Given the description of an element on the screen output the (x, y) to click on. 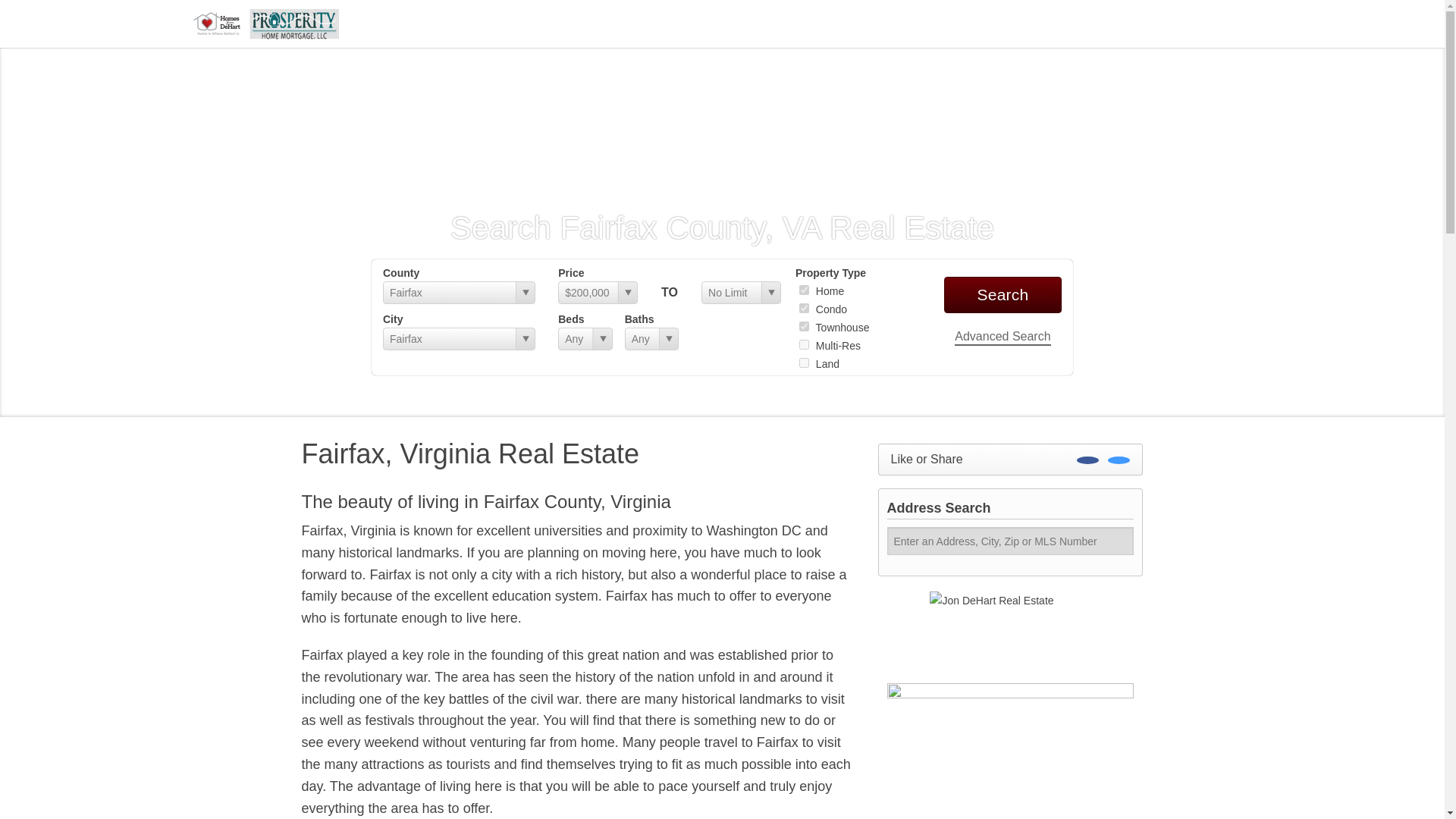
twn (804, 326)
Search (1002, 294)
con (804, 307)
lnd (804, 362)
About Jon DeHart (1009, 751)
Search (1002, 294)
Like or Share (1009, 459)
Advanced Search (1002, 337)
res (804, 289)
yournovahomesearch.com (263, 23)
mul (804, 344)
